Given the description of an element on the screen output the (x, y) to click on. 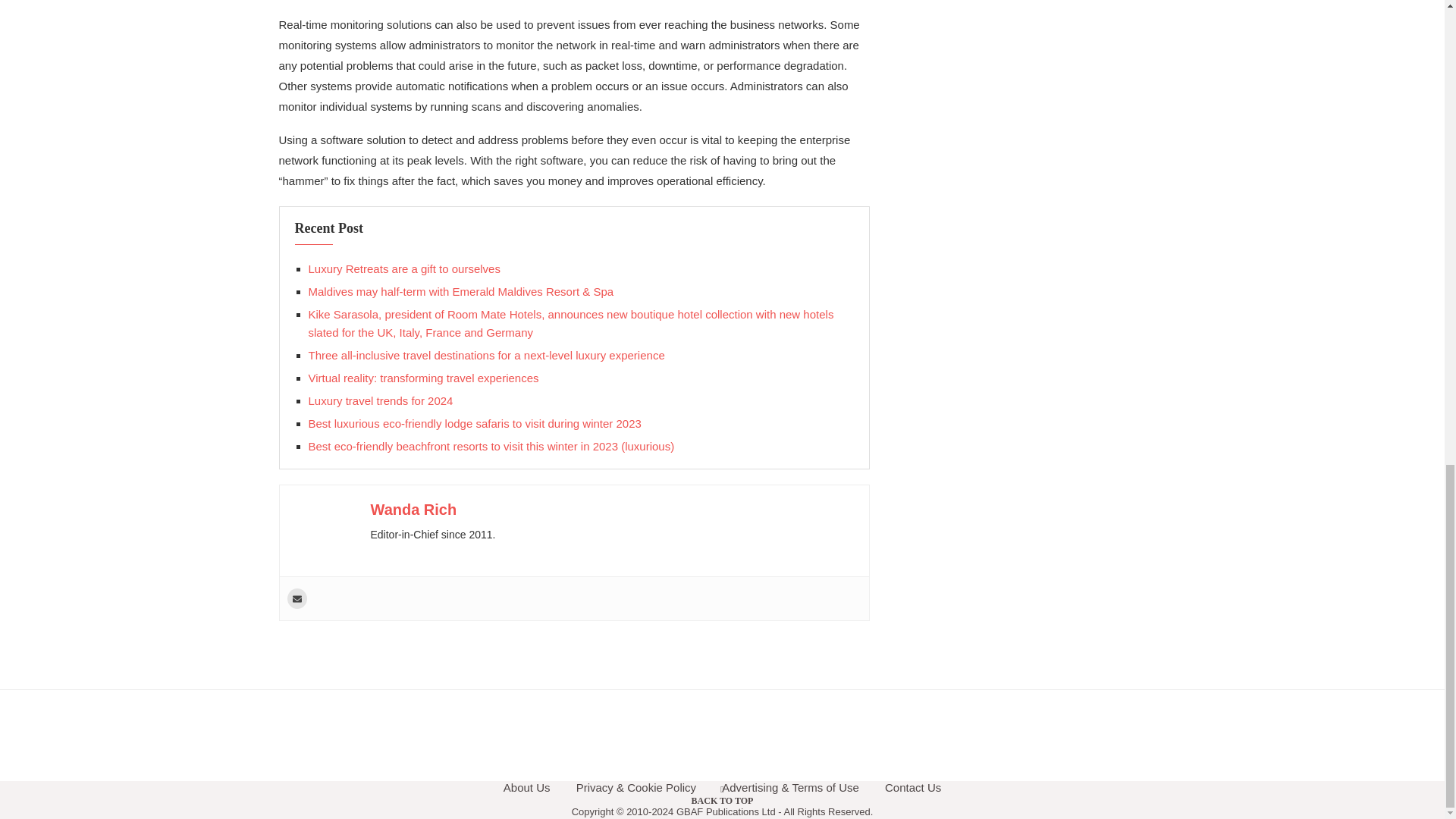
User email (295, 598)
Luxury travel trends for 2024 (379, 400)
Luxury Retreats are a gift to ourselves (403, 268)
Virtual reality: transforming travel experiences (422, 377)
Wanda Rich (413, 509)
